Given the description of an element on the screen output the (x, y) to click on. 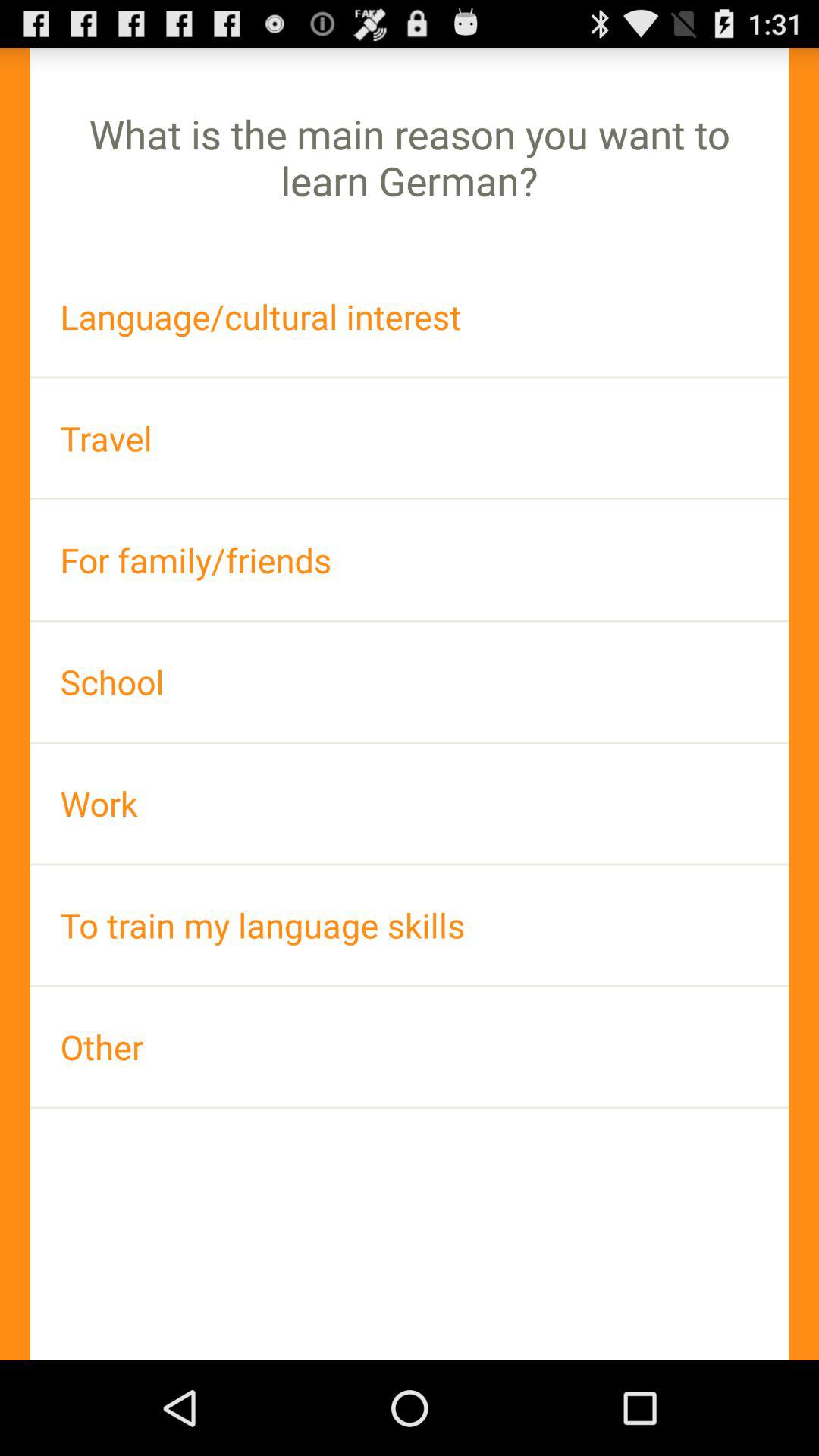
turn off the app at the bottom (409, 1046)
